Given the description of an element on the screen output the (x, y) to click on. 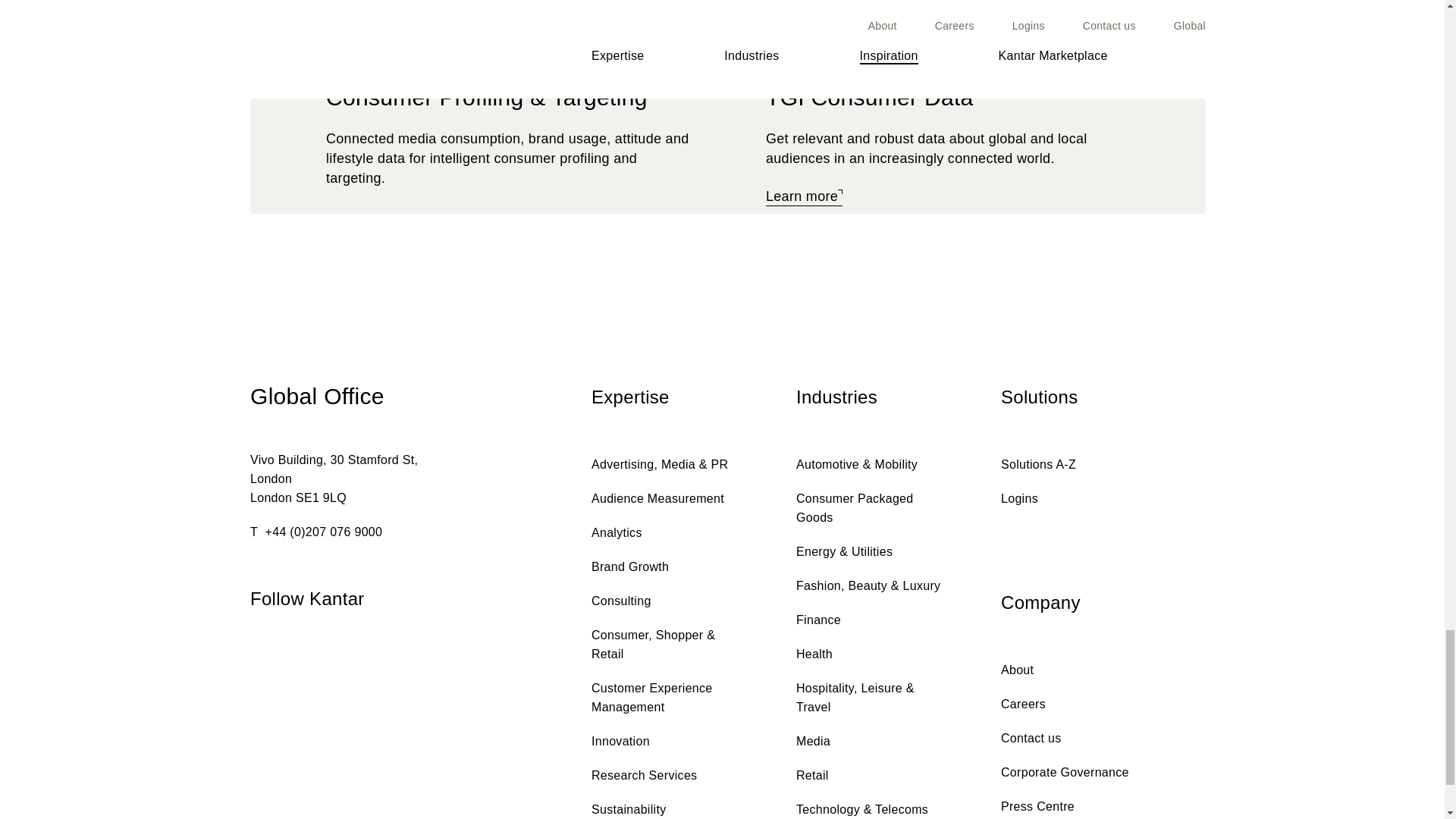
TGI Consumer Data (804, 197)
Consumer Profiling and Targeting (489, 98)
TGI Consumer Data (871, 98)
